Given the description of an element on the screen output the (x, y) to click on. 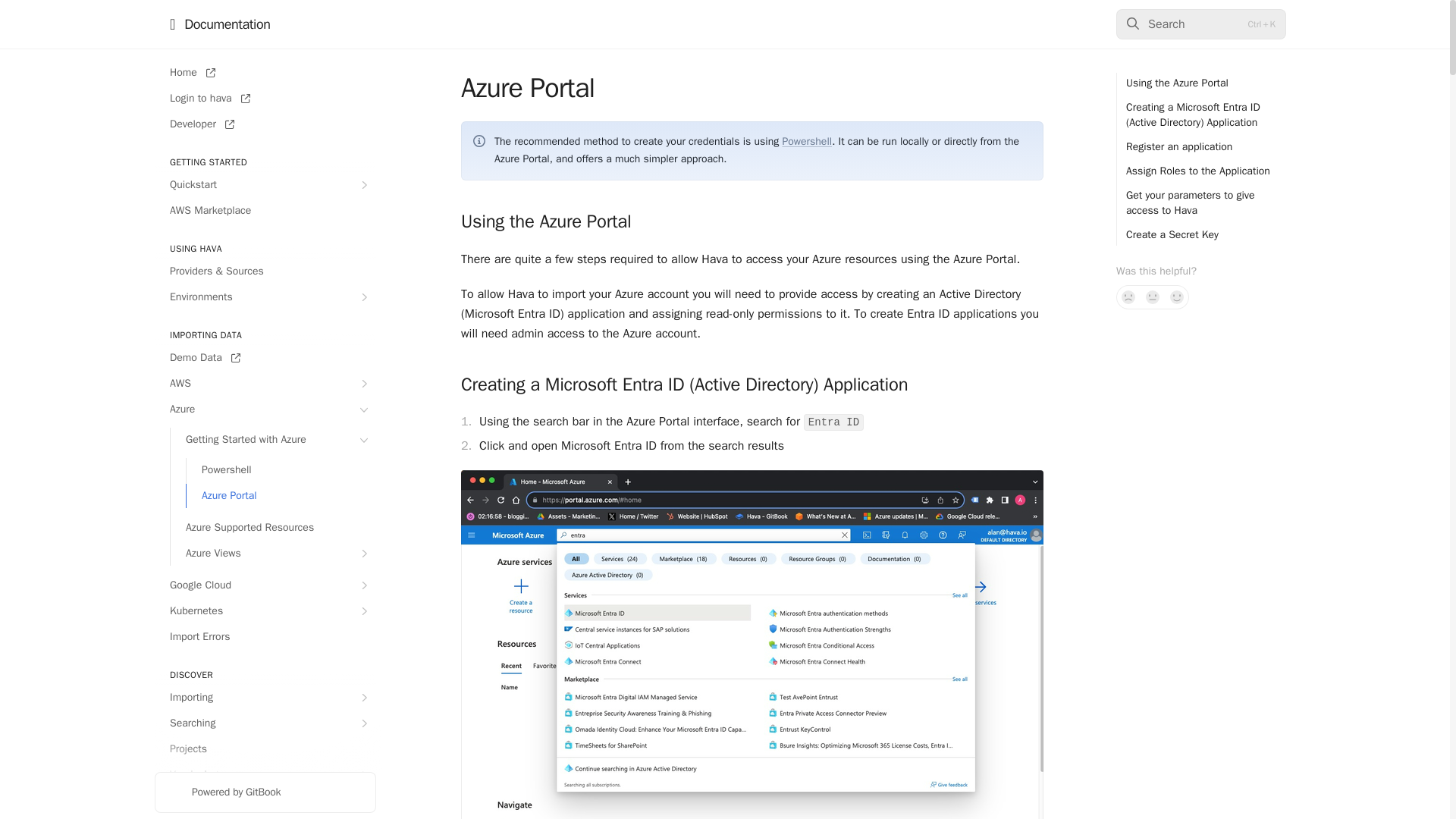
Getting Started with Azure (272, 439)
Environments (264, 297)
Azure Views (272, 553)
Azure (264, 409)
Azure Portal (280, 495)
Quickstart (264, 184)
AWS (264, 383)
AWS Marketplace (264, 210)
Azure Supported Resources (272, 527)
Developer (264, 124)
